Given the description of an element on the screen output the (x, y) to click on. 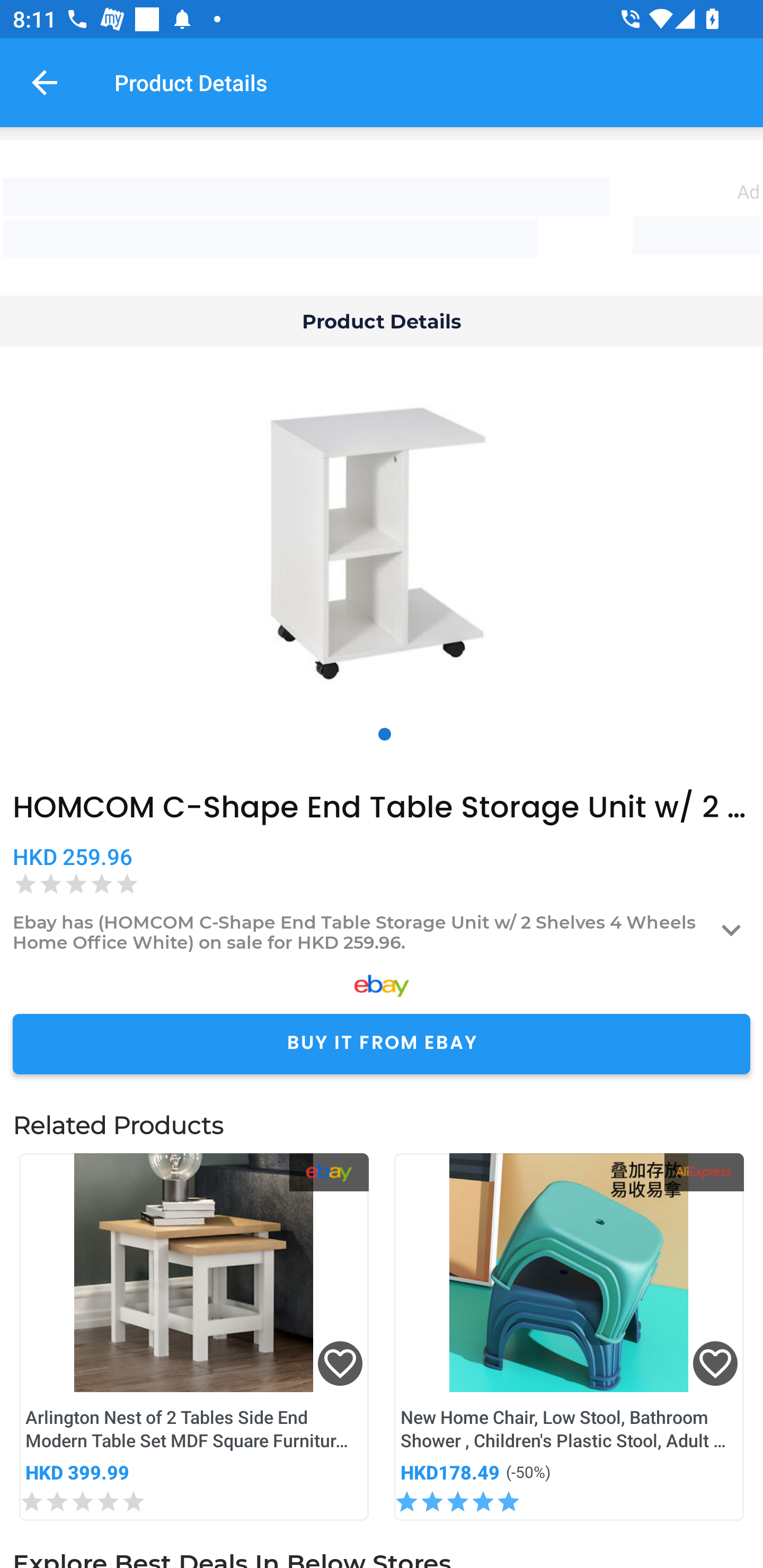
Navigate up (44, 82)
BUY IT FROM EBAY (381, 1044)
